Given the description of an element on the screen output the (x, y) to click on. 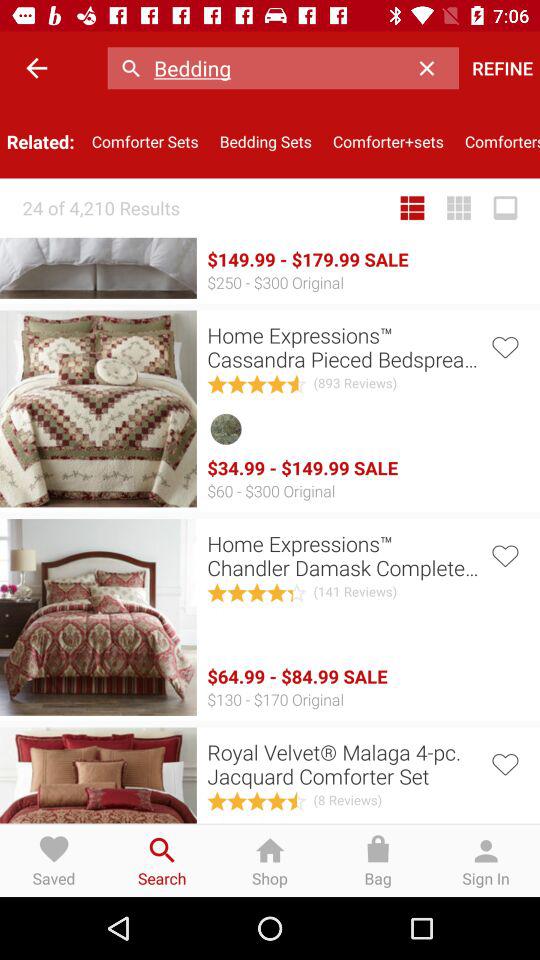
choose item next to bedding item (432, 67)
